Given the description of an element on the screen output the (x, y) to click on. 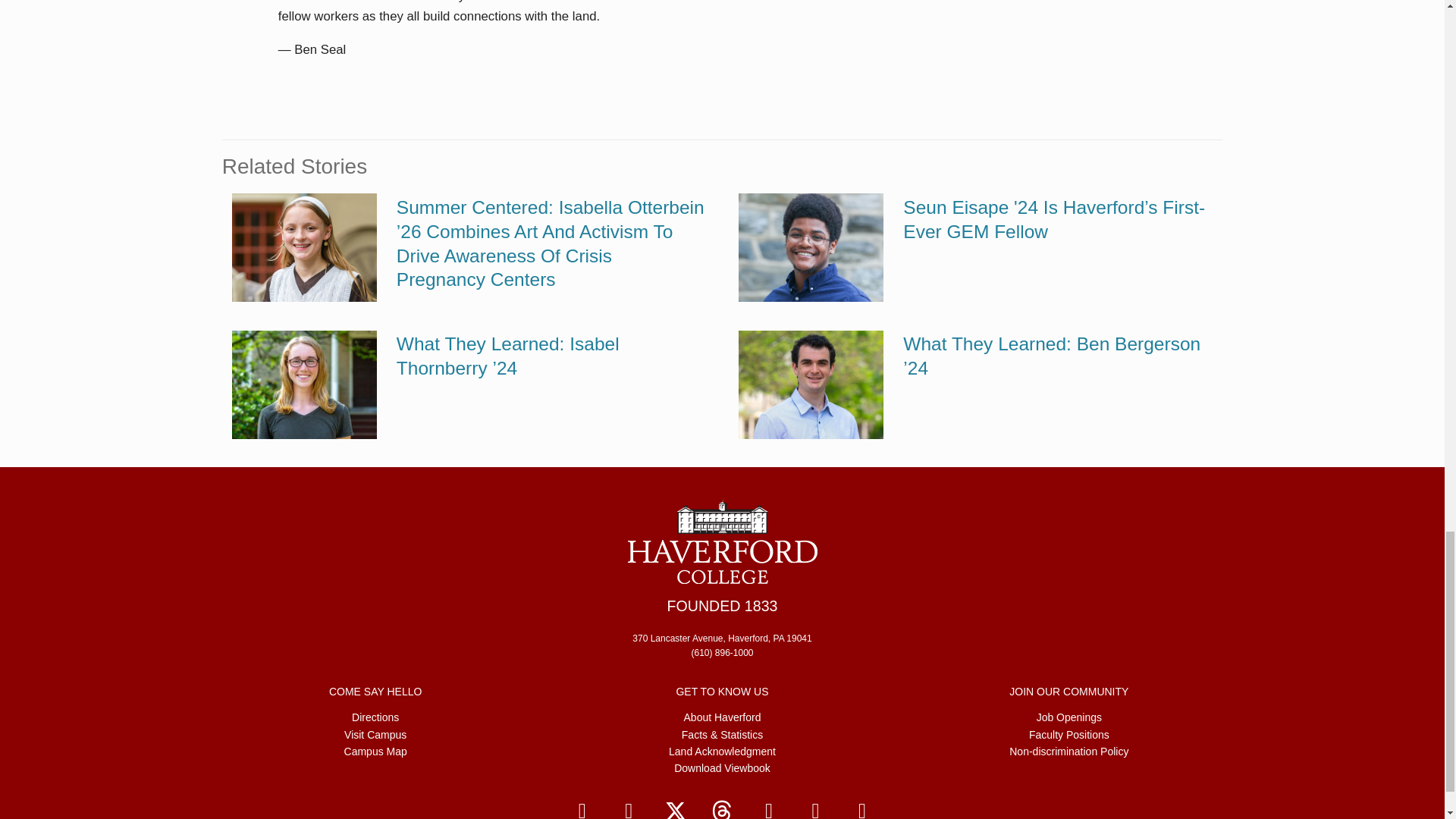
Faculty Positions (1069, 734)
Download Viewbook (722, 767)
About Haverford (722, 717)
Visit Campus (374, 734)
Directions (375, 717)
Land Acknowledgment (722, 751)
Job Openings (1069, 717)
Non-discrimination Policy (1068, 751)
Campus Map (375, 751)
